Given the description of an element on the screen output the (x, y) to click on. 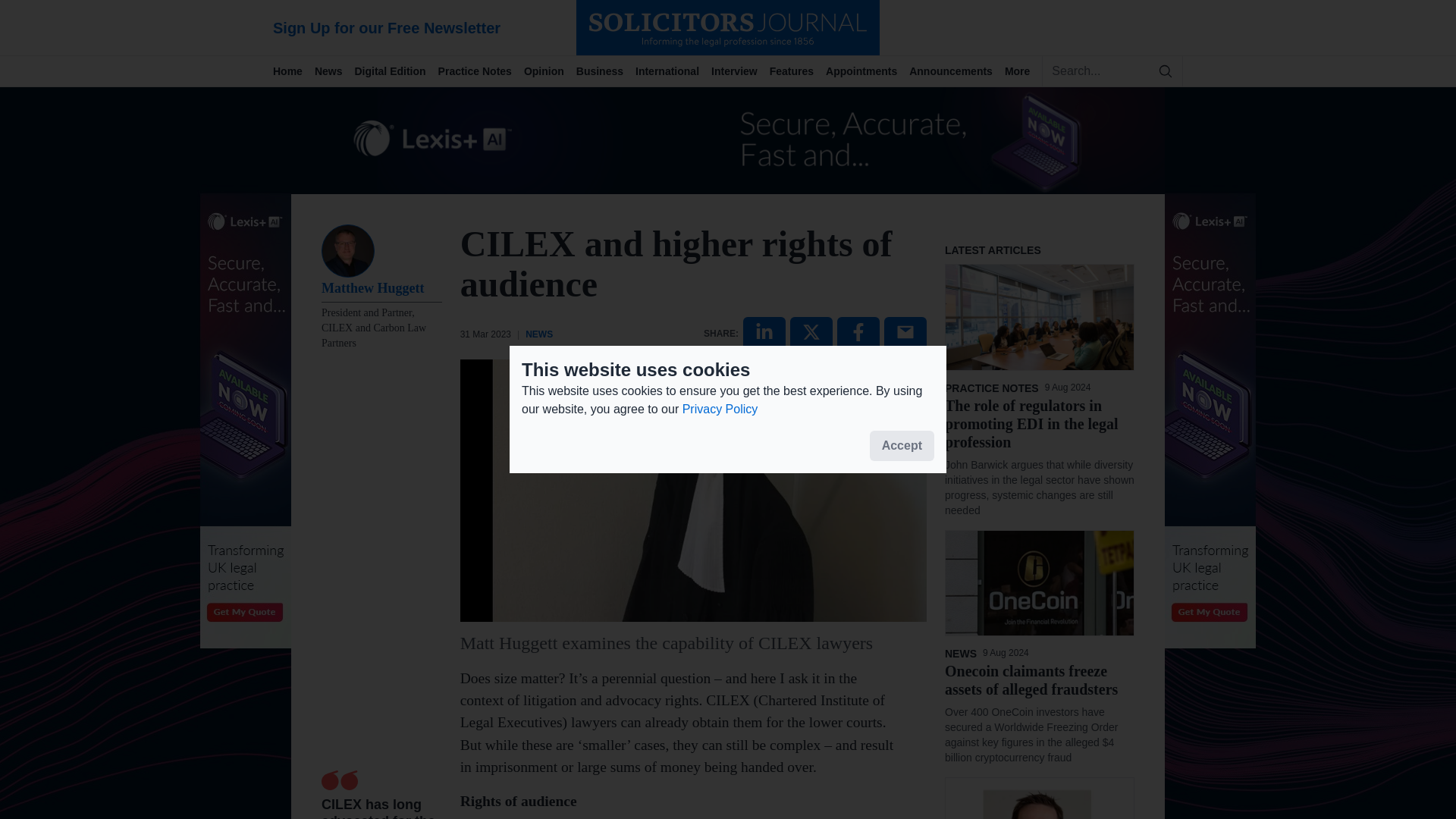
Matthew Huggett (381, 289)
International (672, 71)
Interview (740, 71)
Practice Notes (481, 71)
News (334, 71)
Appointments (866, 71)
NEWS (539, 334)
More (1023, 71)
Digital Edition (395, 71)
